Given the description of an element on the screen output the (x, y) to click on. 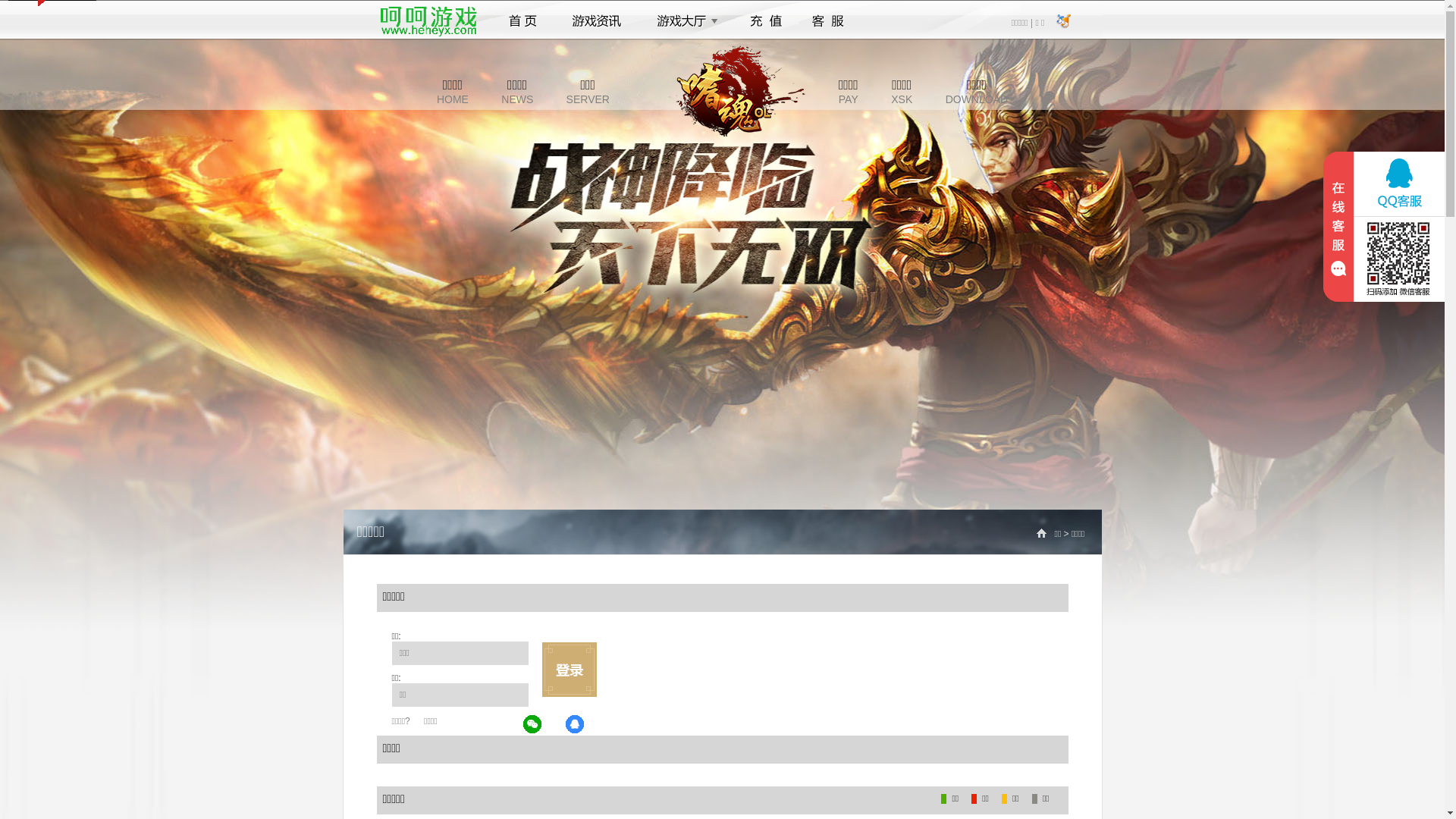
QQ Element type: hover (575, 724)
